Given the description of an element on the screen output the (x, y) to click on. 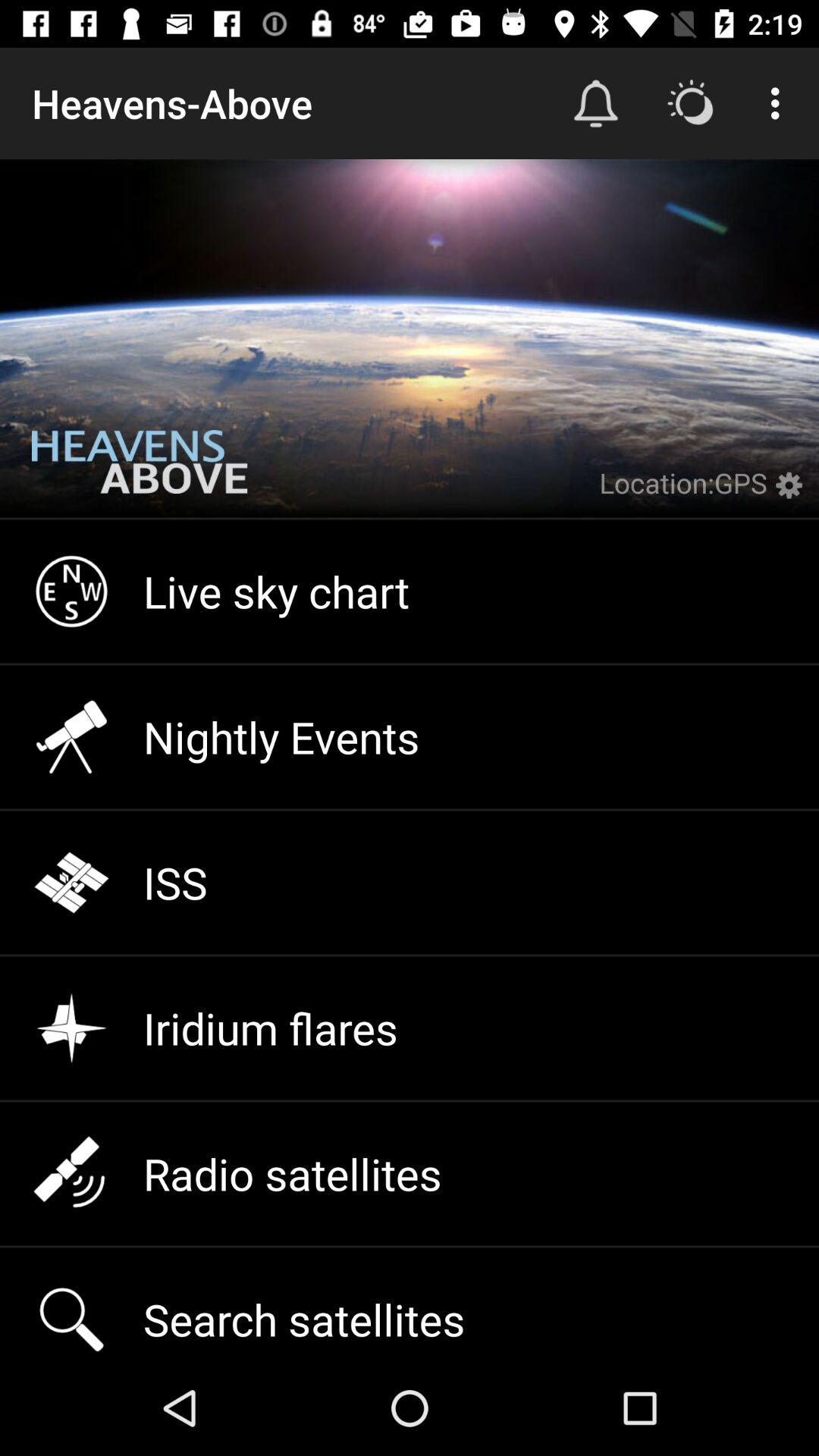
turn off the icon below the iss (409, 1027)
